Given the description of an element on the screen output the (x, y) to click on. 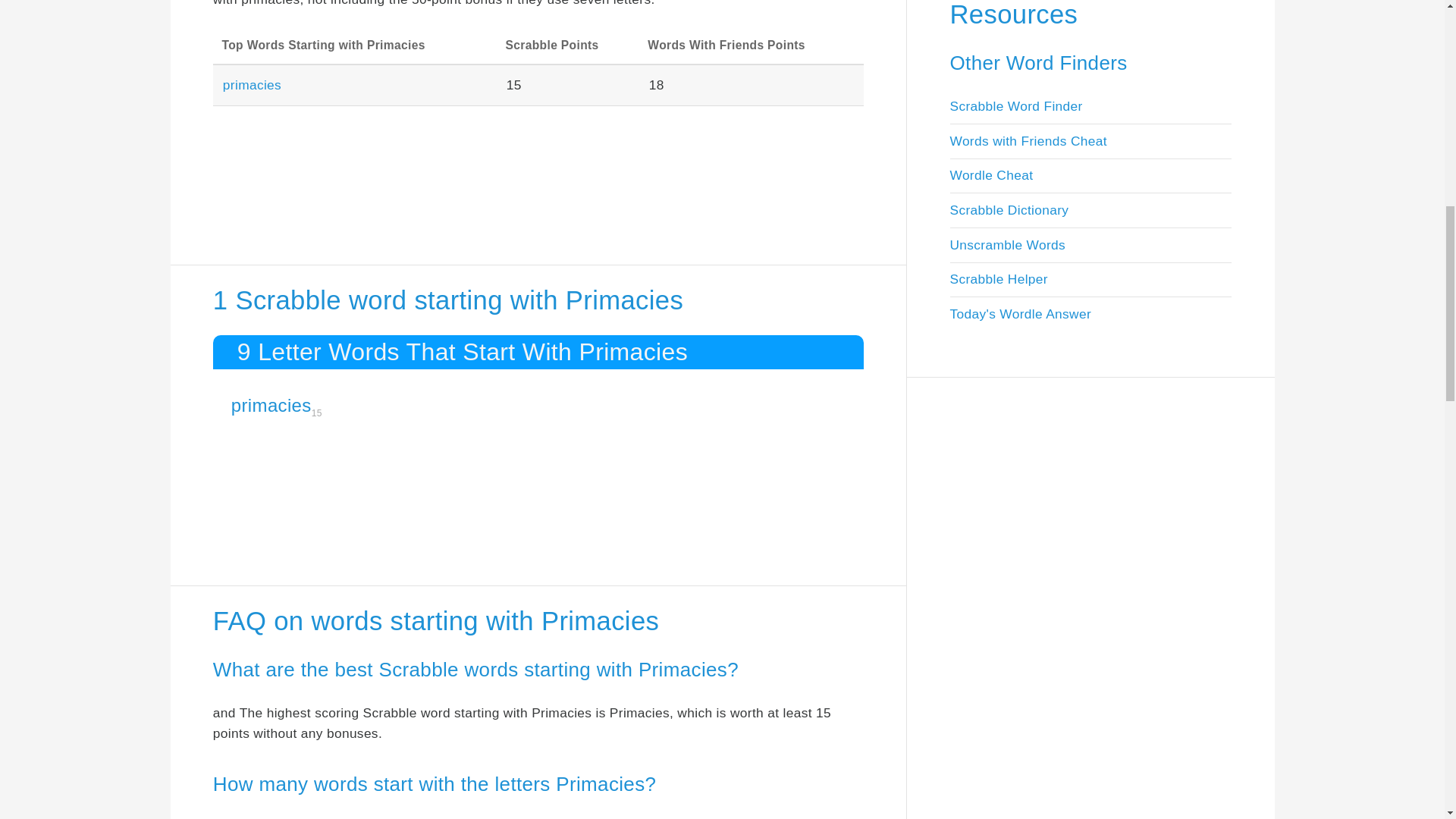
Wordle Cheat (990, 174)
primacies (271, 404)
primacies (251, 84)
Words with Friends Cheat (1027, 140)
Scrabble Word Finder (1015, 105)
